Given the description of an element on the screen output the (x, y) to click on. 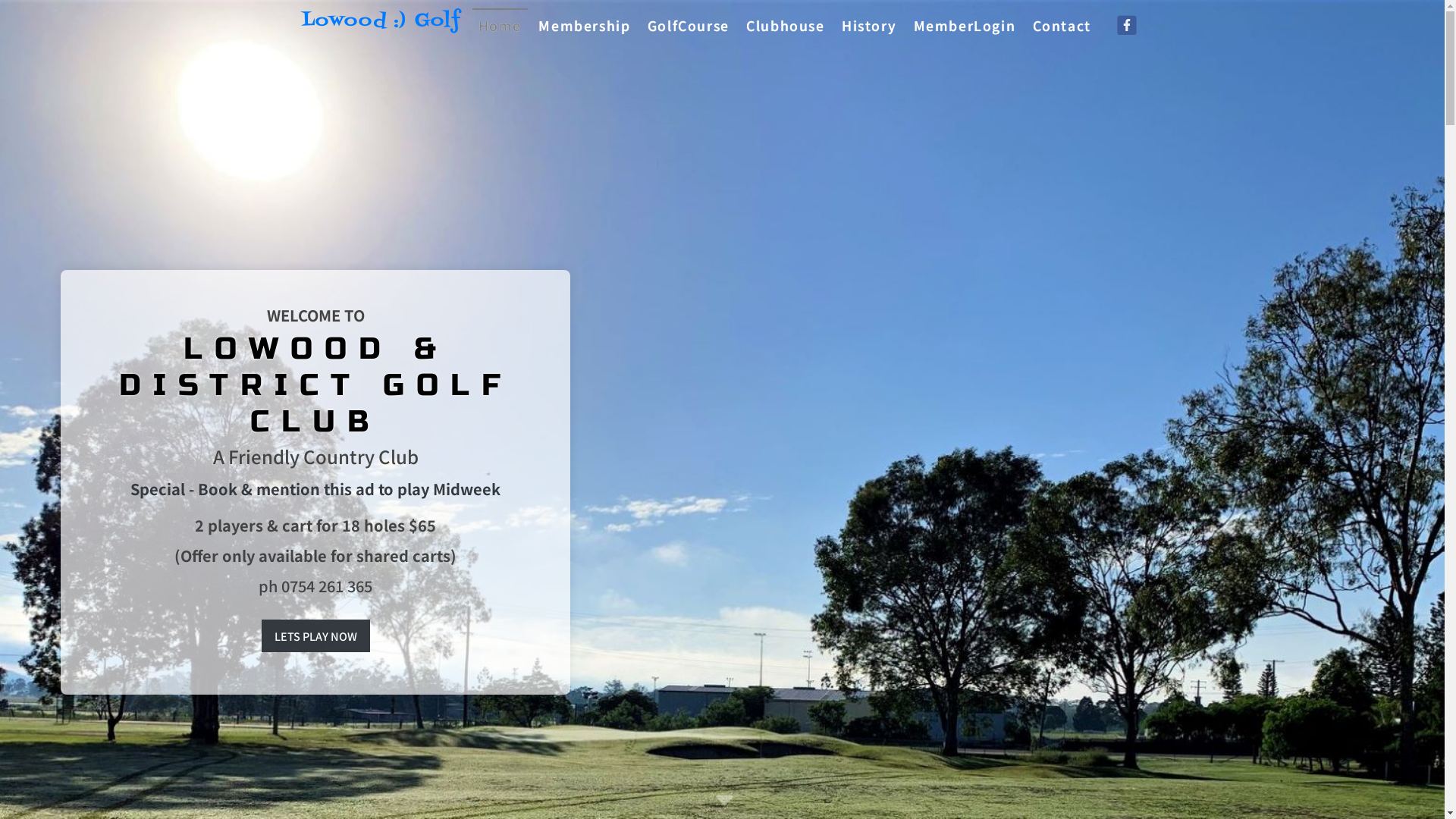
MemberLogin Element type: text (964, 24)
Home Element type: text (499, 24)
GolfCourse Element type: text (688, 24)
Contact Element type: text (1061, 24)
Lowood :) Golf Element type: text (379, 24)
Clubhouse Element type: text (785, 24)
History Element type: text (868, 24)
LETS PLAY NOW Element type: text (314, 635)
Membership Element type: text (584, 24)
